Given the description of an element on the screen output the (x, y) to click on. 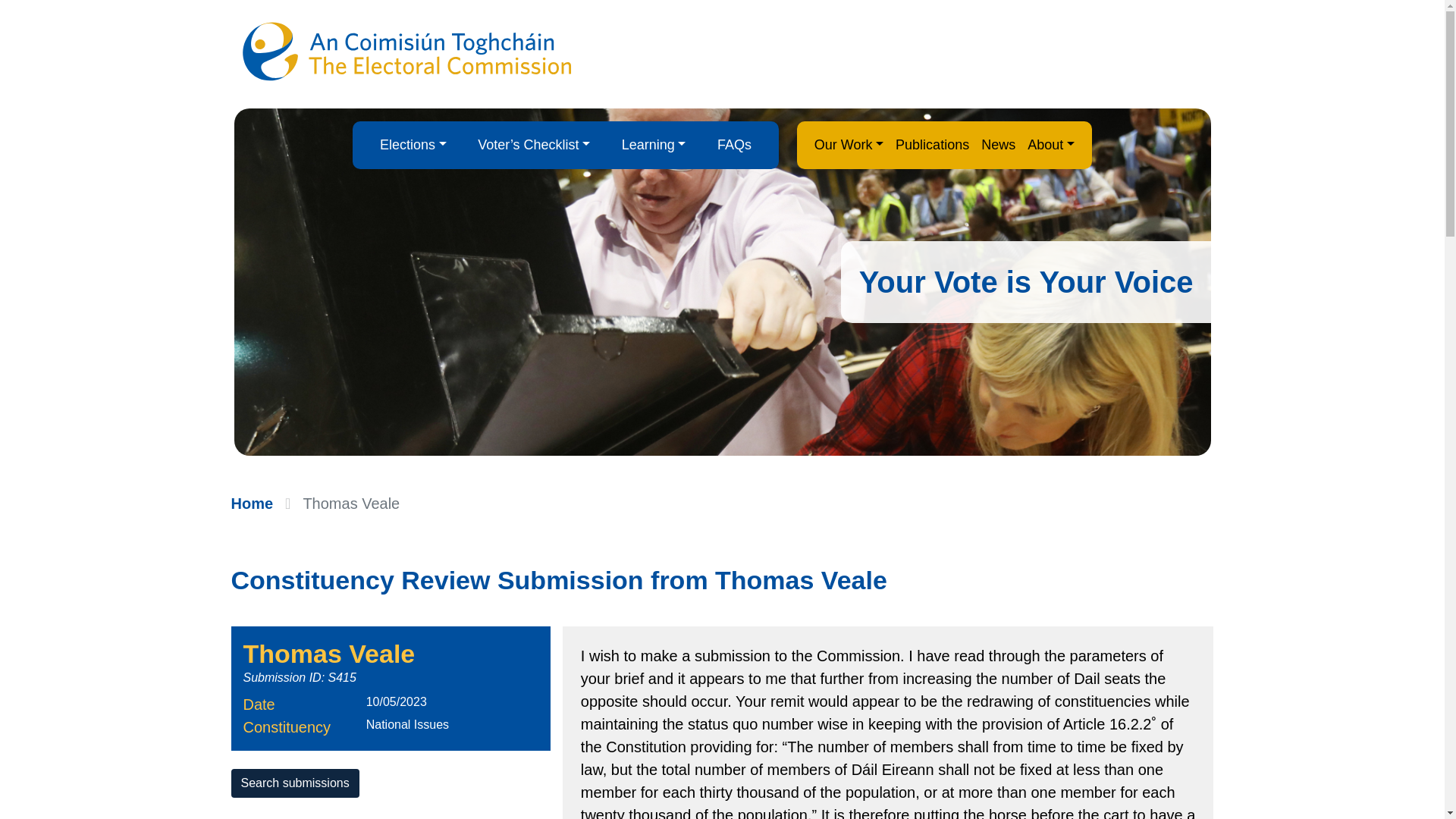
Our Work (848, 144)
Learning (653, 144)
News (998, 144)
Publications (932, 144)
Elections (412, 144)
FAQs (734, 144)
About (1051, 144)
Home (251, 503)
Search submissions (294, 783)
